Given the description of an element on the screen output the (x, y) to click on. 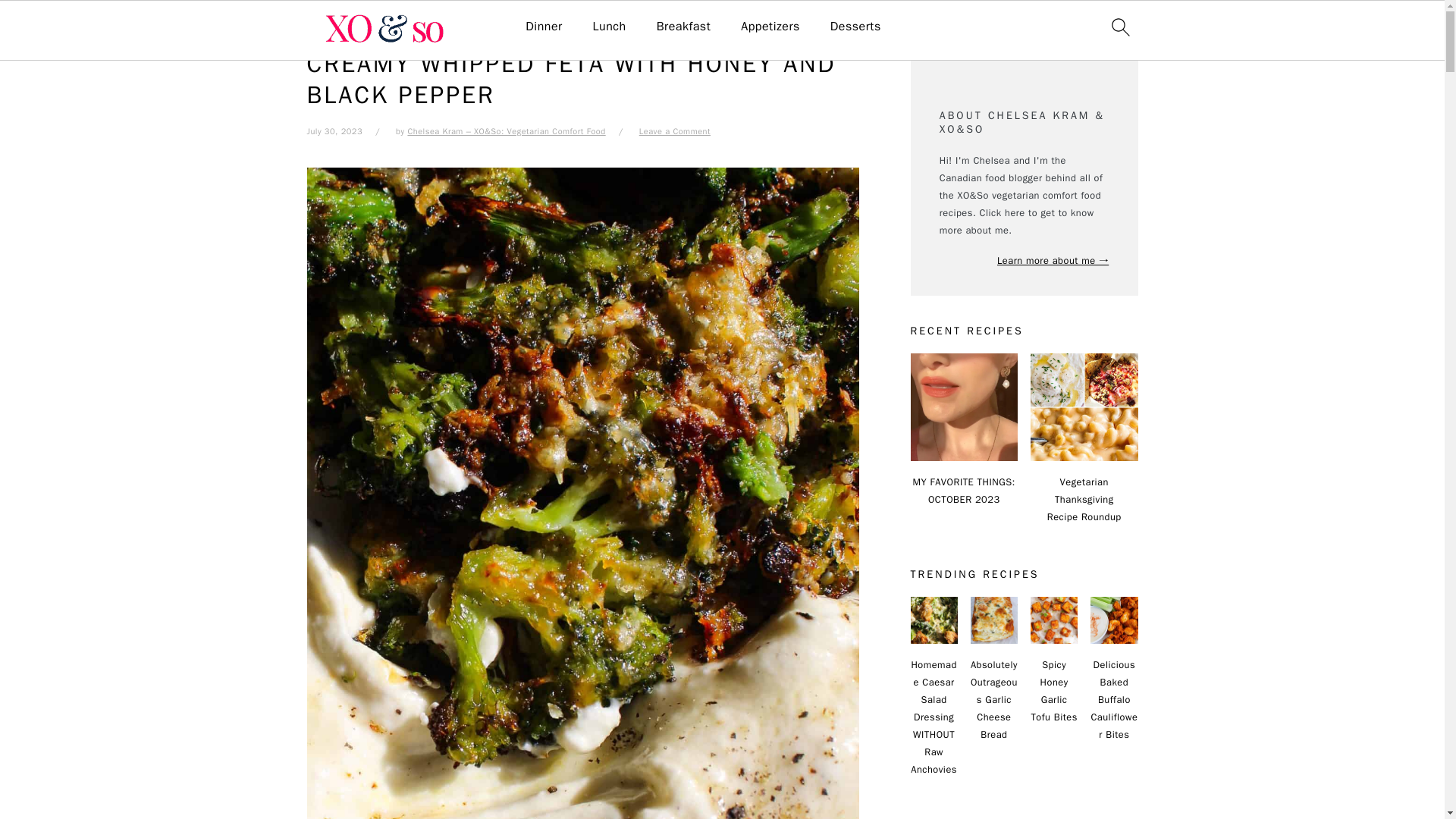
Breakfast (683, 26)
Appetizers (770, 26)
search icon (1119, 26)
Dinner (543, 26)
Lunch (609, 26)
Desserts (854, 26)
